Given the description of an element on the screen output the (x, y) to click on. 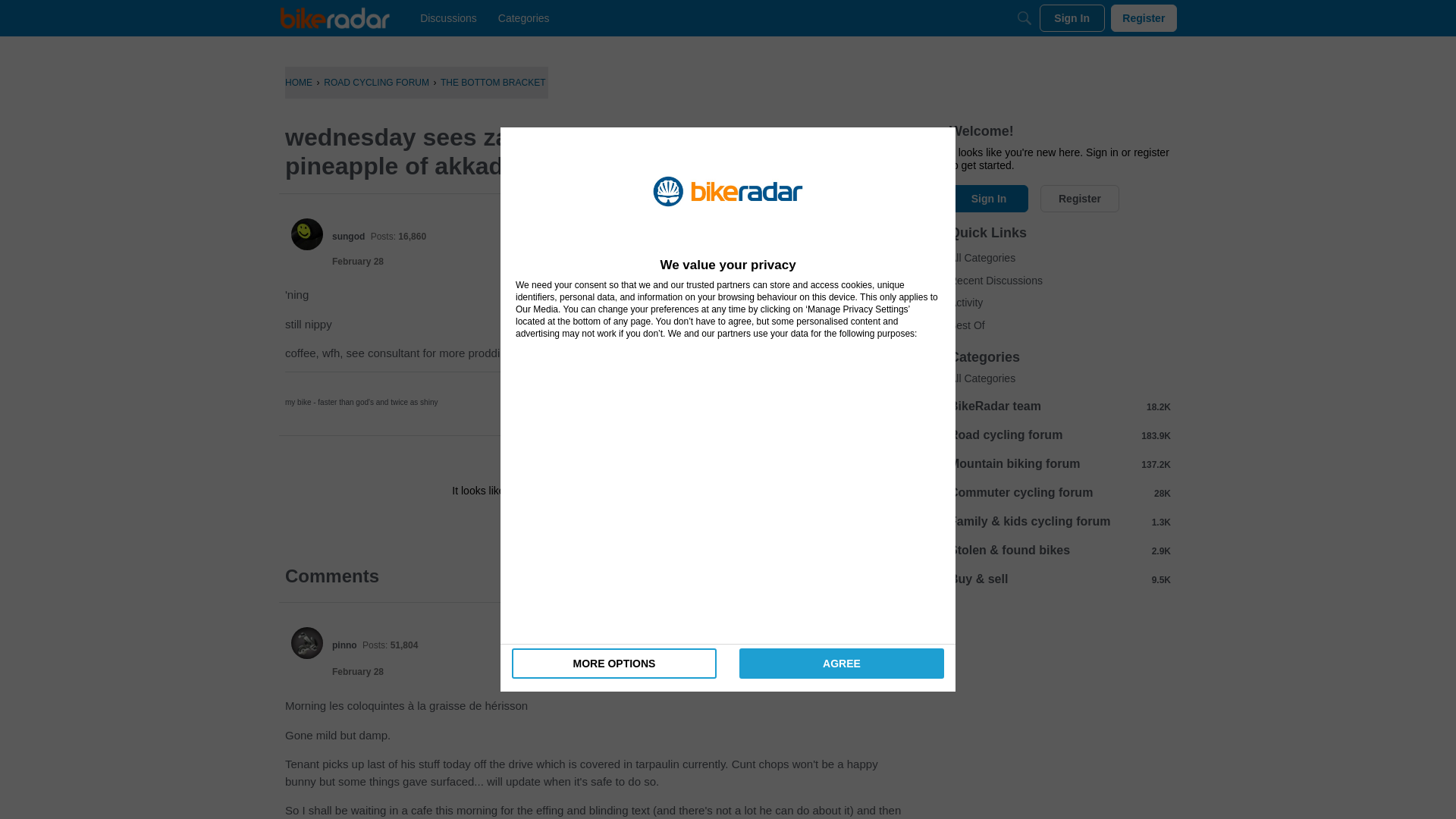
Register (638, 524)
Sign In (547, 524)
Sign In (547, 524)
pinno (307, 643)
HOME (299, 81)
Discussions (448, 17)
ROAD CYCLING FORUM (376, 81)
THE BOTTOM BRACKET (492, 81)
sungod (307, 234)
February 28 (357, 261)
sungod (348, 235)
Register (1143, 17)
February 28, 2024 6:14AM (357, 261)
Register (638, 524)
Categories (524, 17)
